Given the description of an element on the screen output the (x, y) to click on. 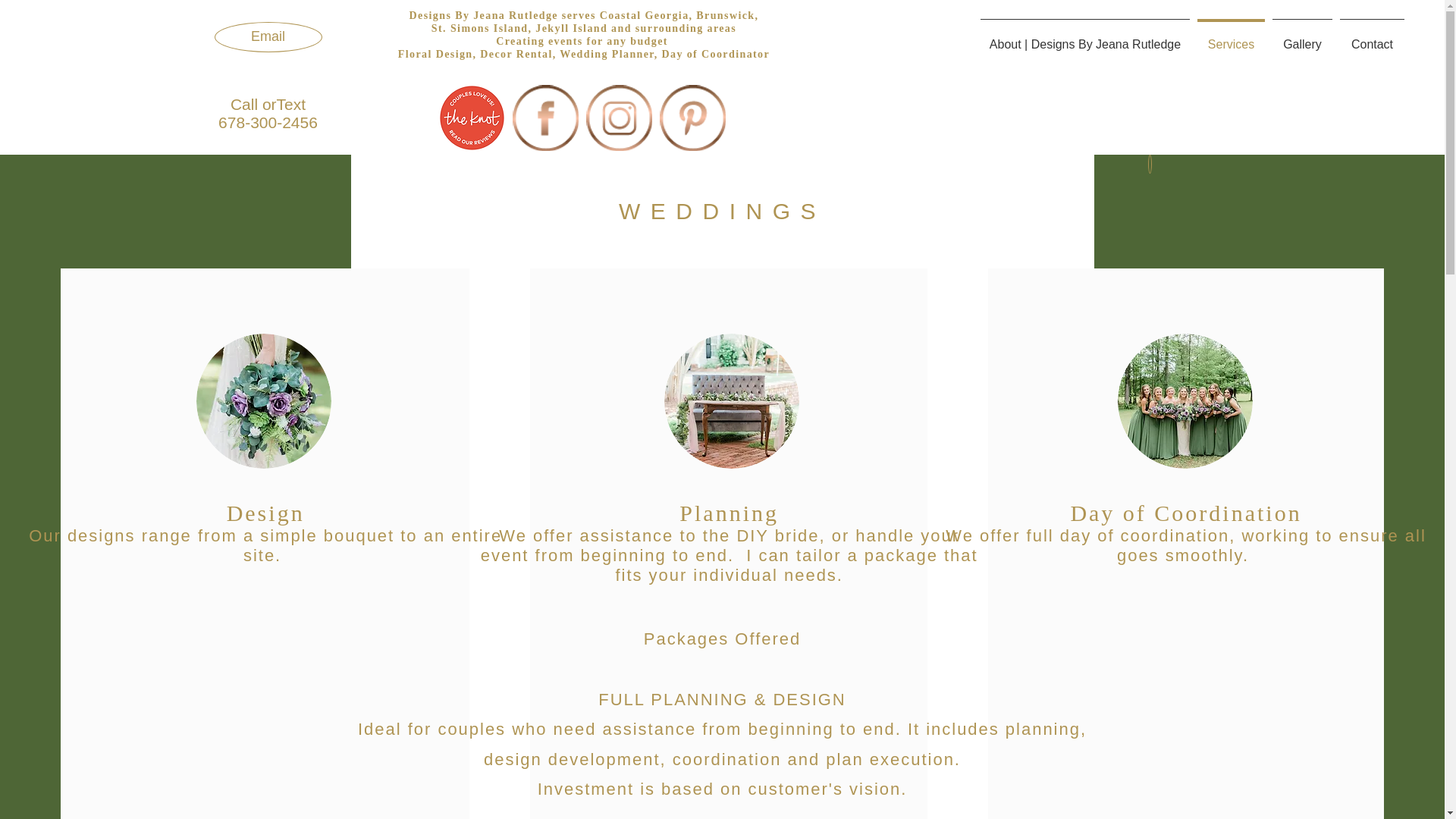
Gallery (1302, 37)
Contact (1371, 37)
Email (267, 37)
Services (1230, 37)
